Given the description of an element on the screen output the (x, y) to click on. 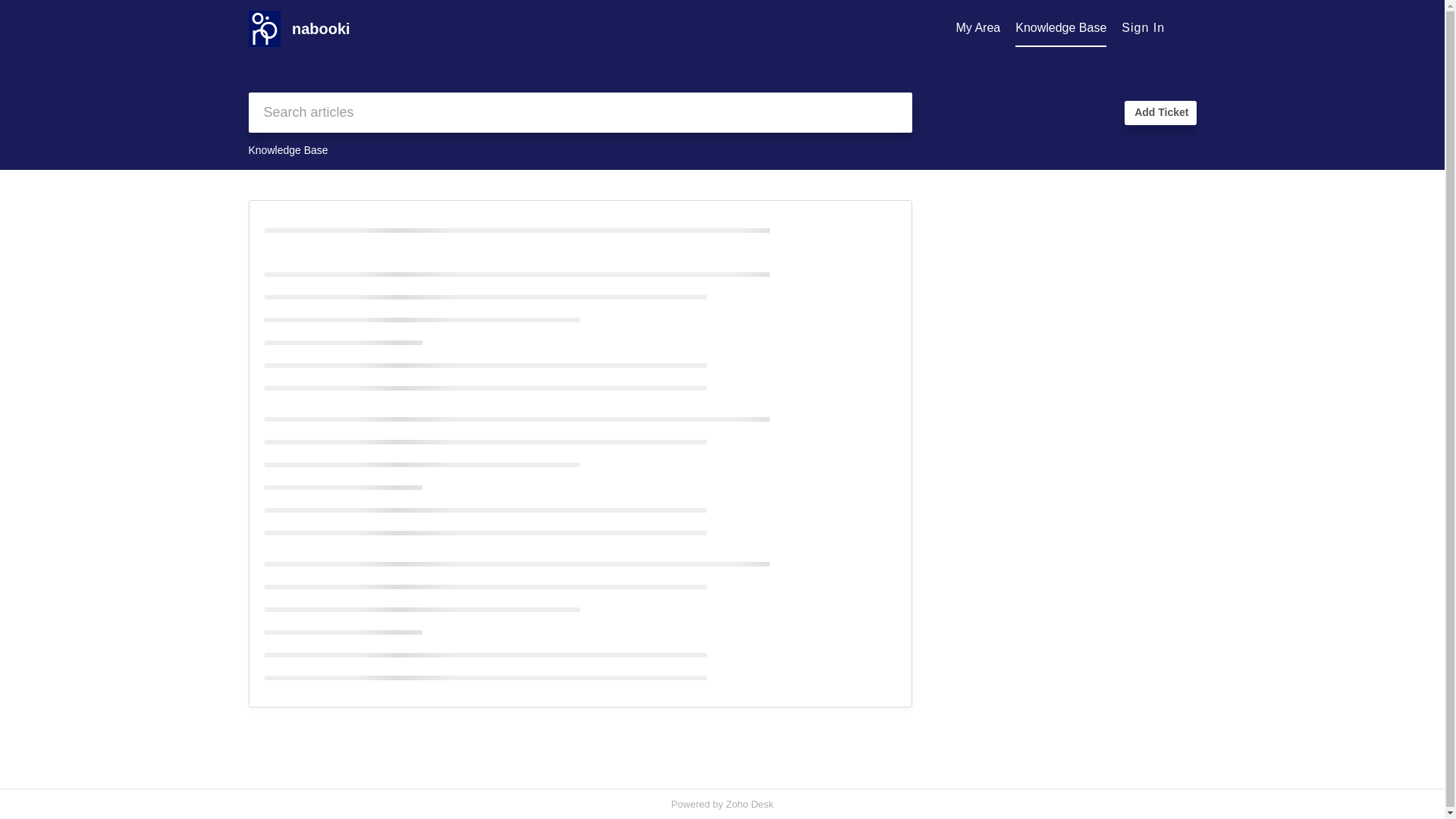
Knowledge Base (288, 150)
My Area (978, 27)
Knowledge Base (1060, 27)
Zoho Desk (749, 803)
Sign In (1142, 27)
Knowledge Base (1060, 27)
Add Ticket (1159, 112)
My Area (978, 27)
